Given the description of an element on the screen output the (x, y) to click on. 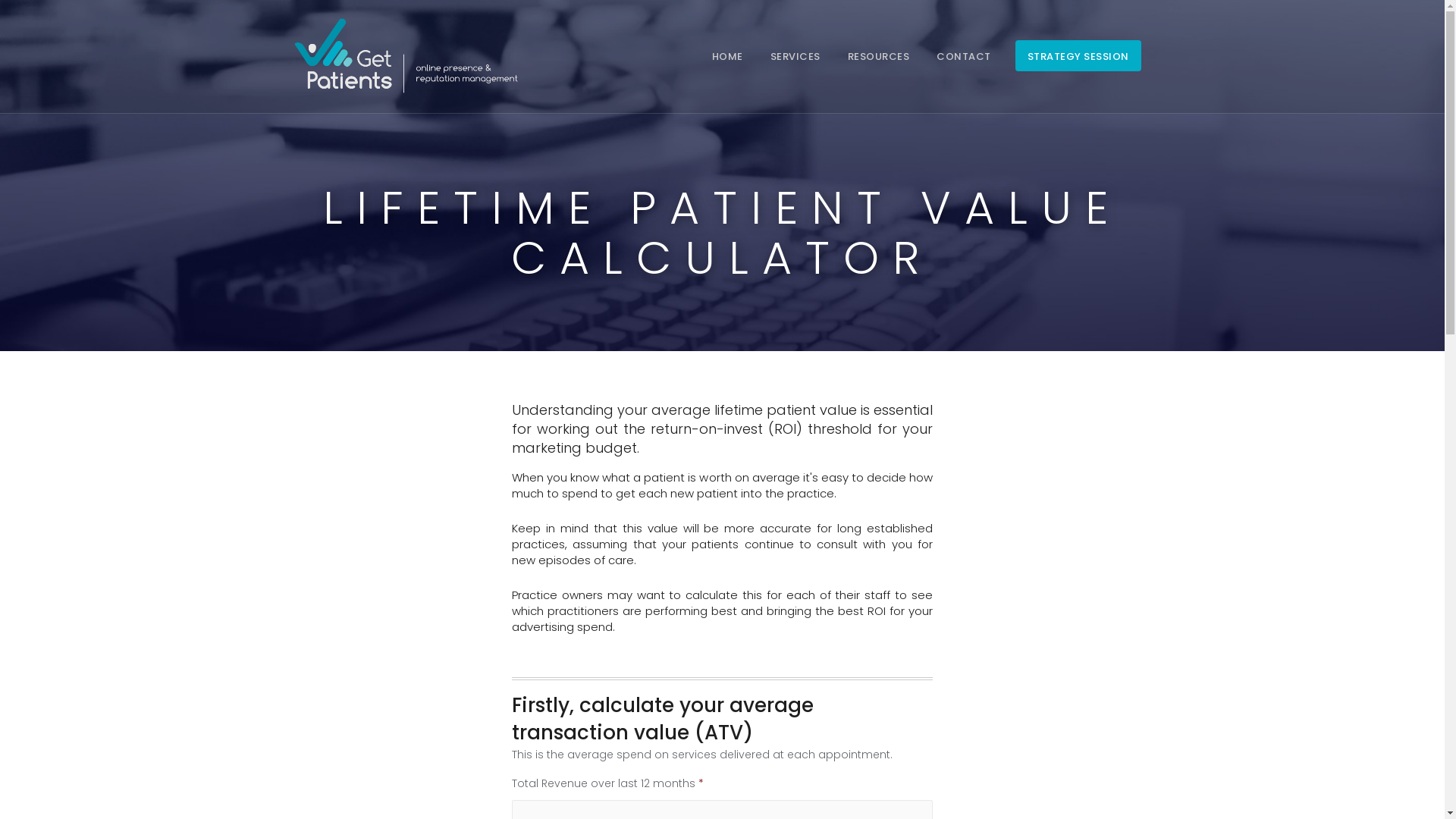
CONTACT Element type: text (963, 56)
GetPatients Element type: hover (404, 48)
HOME Element type: text (726, 56)
SERVICES Element type: text (795, 56)
RESOURCES Element type: text (878, 56)
STRATEGY SESSION Element type: text (1077, 56)
